Given the description of an element on the screen output the (x, y) to click on. 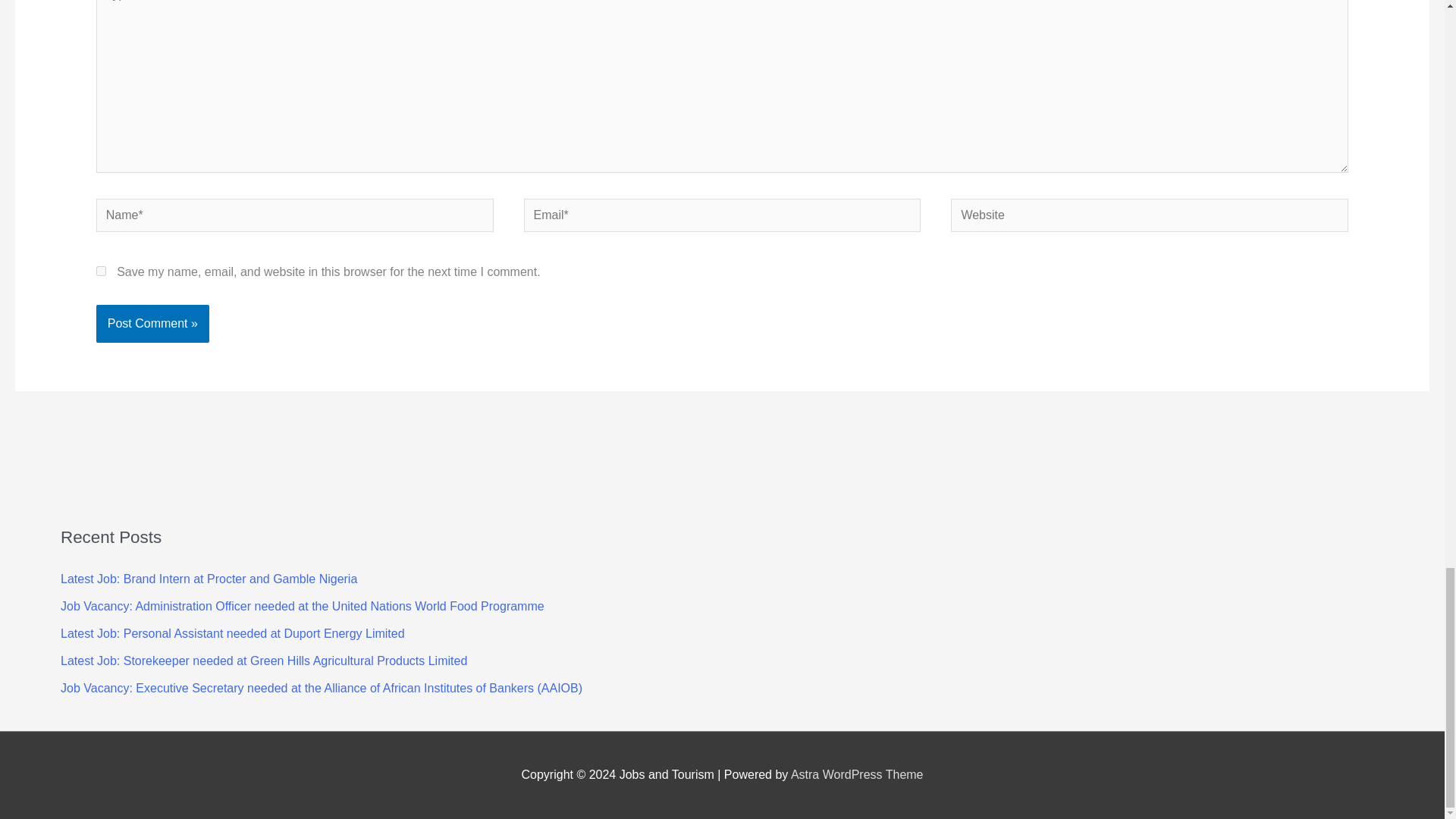
Latest Job: Brand Intern at Procter and Gamble Nigeria (208, 578)
yes (101, 271)
Astra WordPress Theme (856, 774)
